Given the description of an element on the screen output the (x, y) to click on. 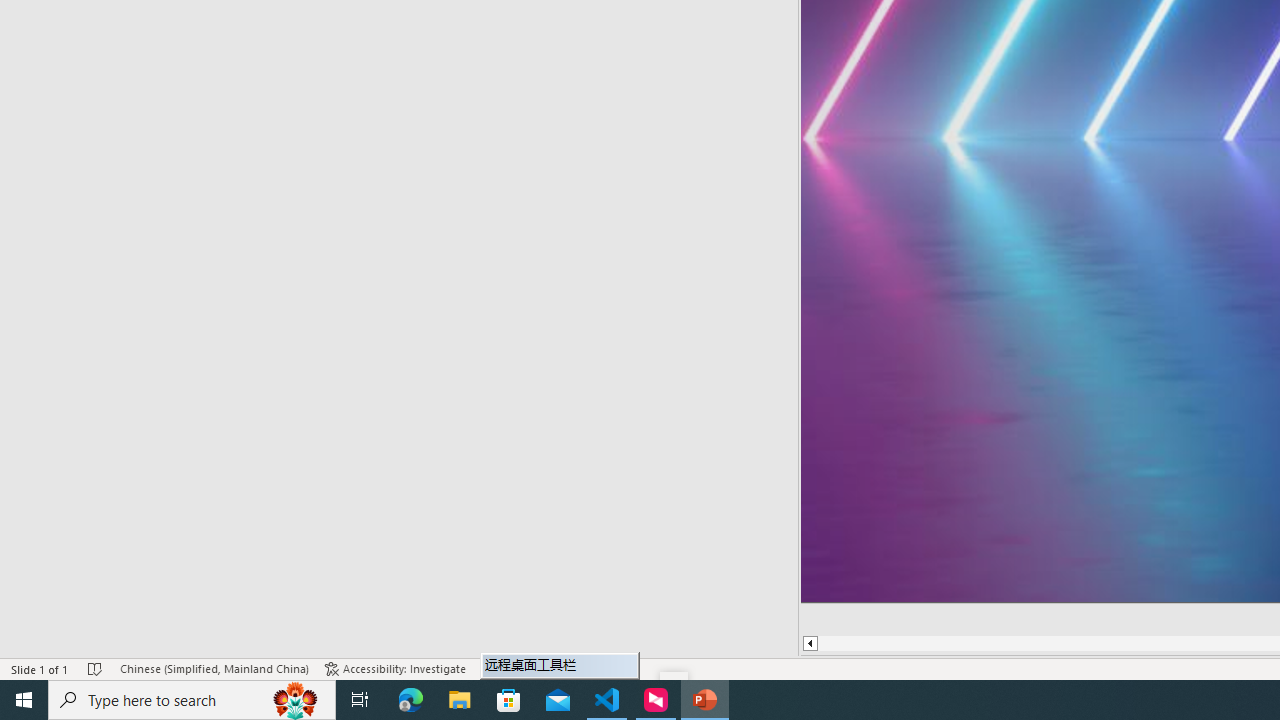
Spell Check No Errors (95, 668)
Accessibility Checker Accessibility: Investigate (395, 668)
